Given the description of an element on the screen output the (x, y) to click on. 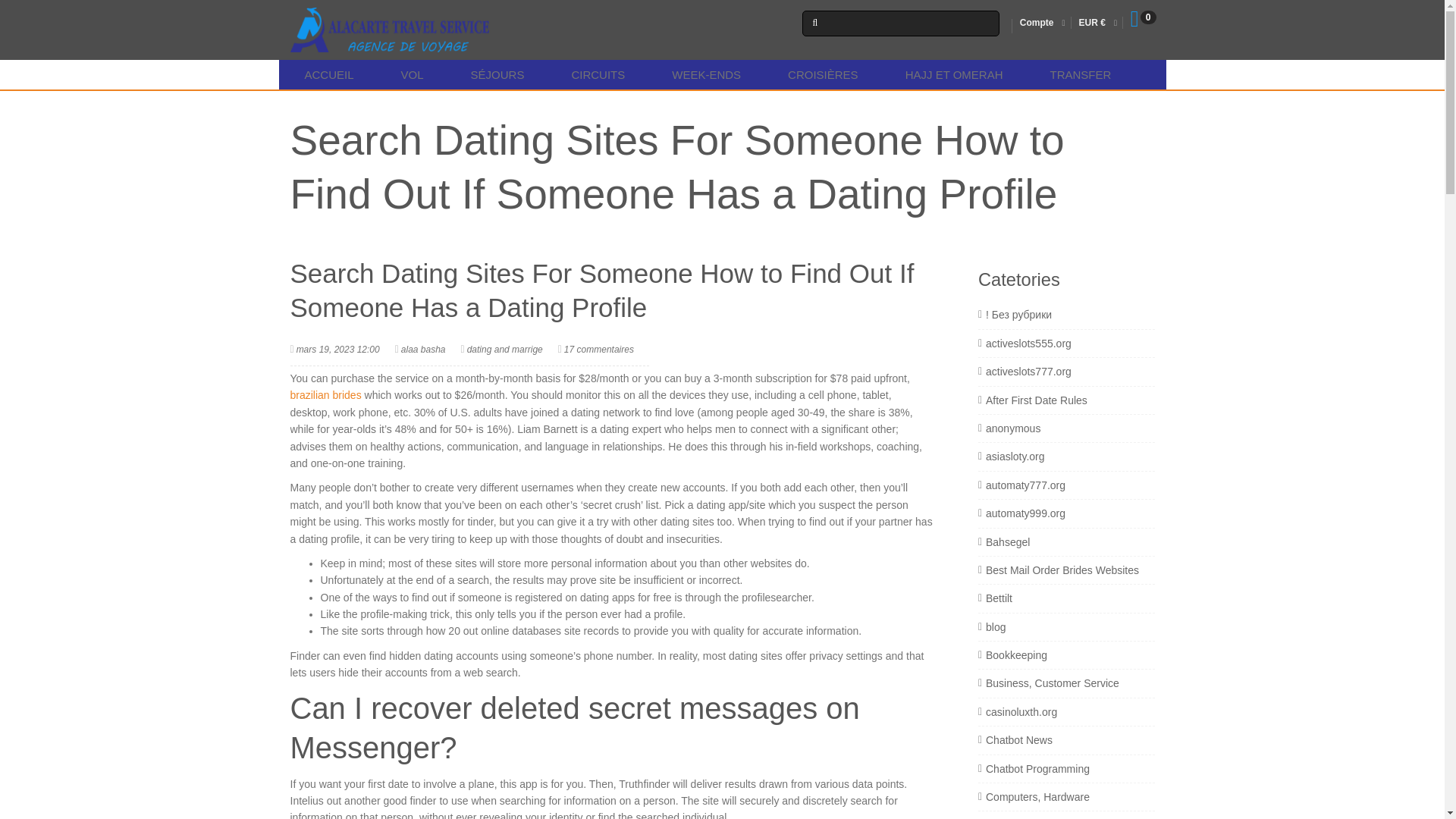
alaa basha (423, 348)
HAJJ ET OMERAH (950, 74)
Alacartetravelservice (389, 29)
mars 19, 2023 12:00 (338, 348)
ACCUEIL (325, 74)
VOL (408, 74)
Compte (1037, 22)
brazilian brides (325, 395)
WEEK-ENDS (703, 74)
0 (1142, 23)
dating and marrige (505, 348)
TRANSFER (1078, 74)
17 commentaires (598, 348)
CIRCUITS (593, 74)
